Given the description of an element on the screen output the (x, y) to click on. 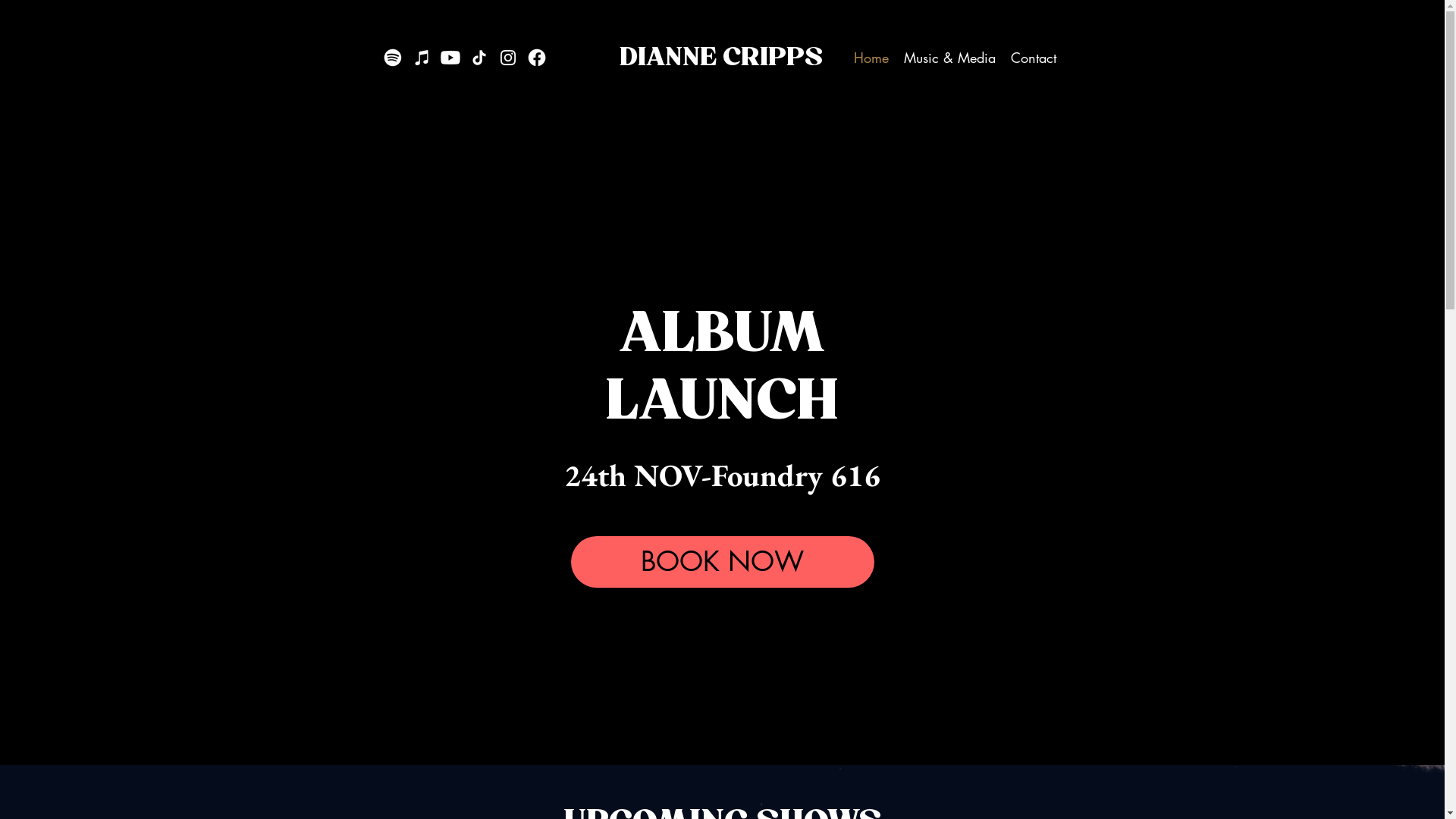
Music & Media Element type: text (949, 57)
Contact Element type: text (1032, 57)
Home Element type: text (871, 57)
DIANNE CRIPPS Element type: text (720, 53)
BOOK NOW Element type: text (721, 561)
